Given the description of an element on the screen output the (x, y) to click on. 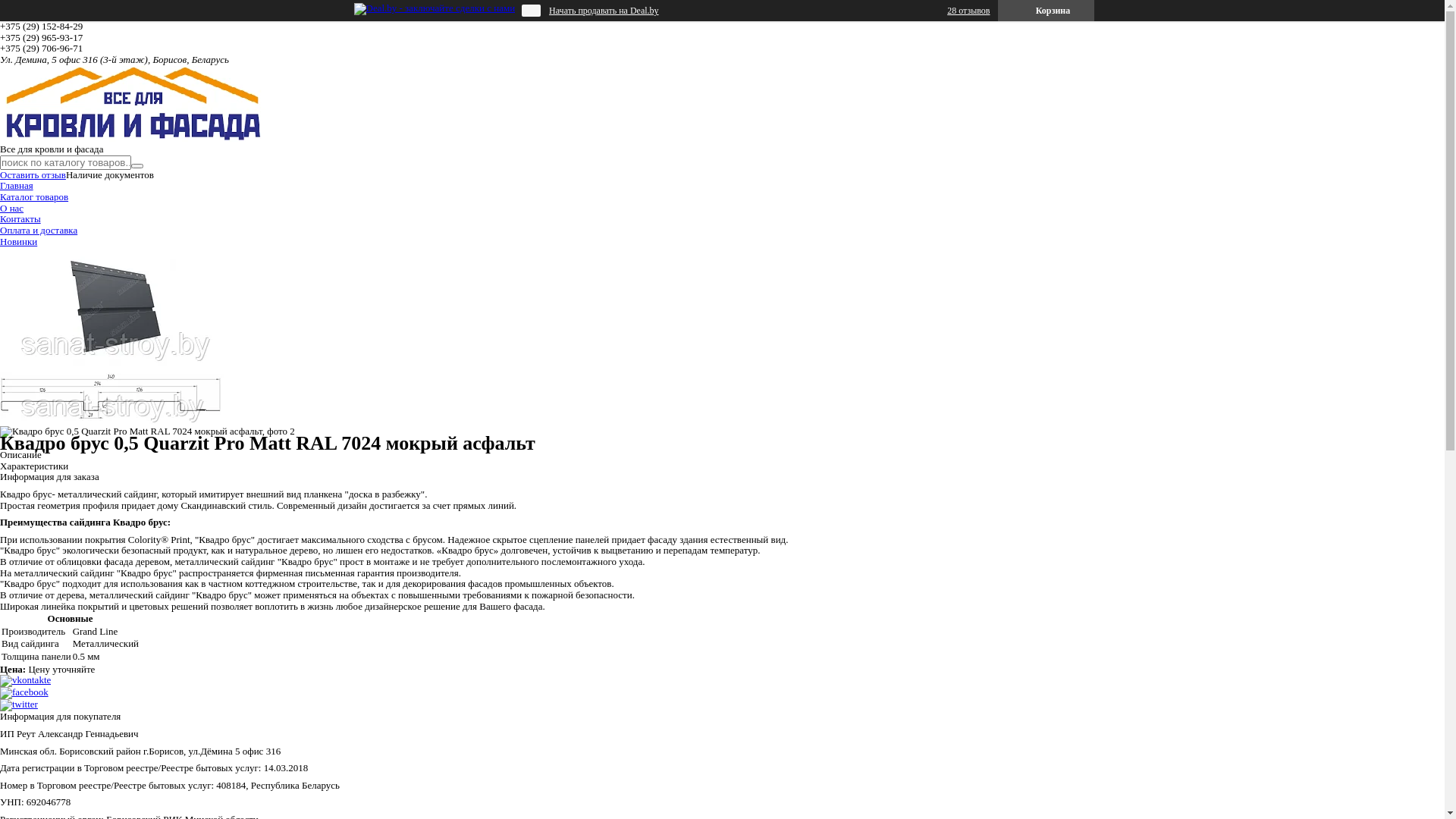
twitter Element type: hover (18, 703)
facebook Element type: hover (24, 691)
